Given the description of an element on the screen output the (x, y) to click on. 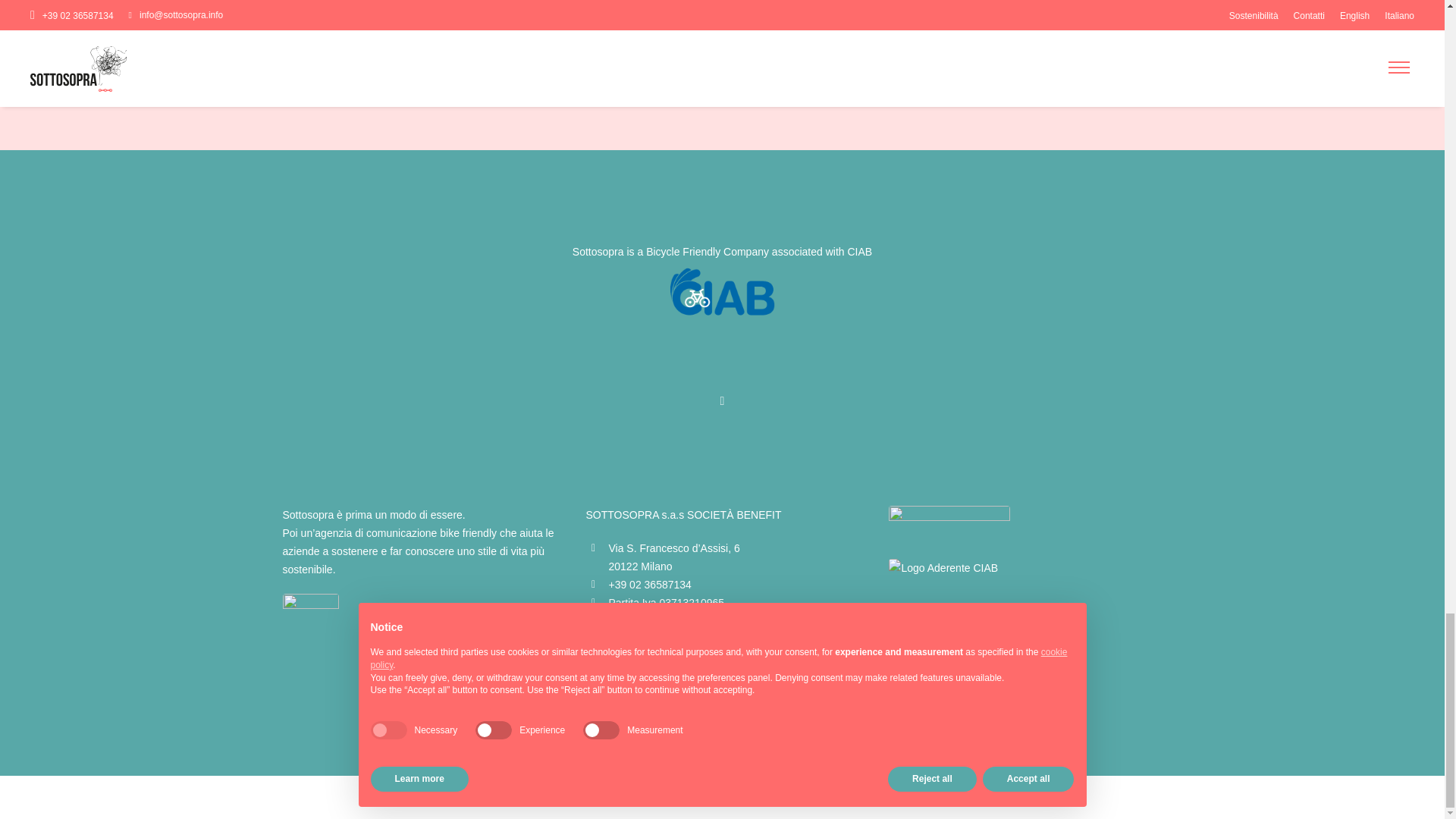
Logo Ciab Club delle Imprese Amiche della Bicicletta (721, 294)
PRIVACY POLICY (642, 796)
FINANCING POLICY (797, 796)
COOKIE POLICY (716, 796)
Cookie Policy  (716, 796)
Privacy Policy  (642, 796)
